Given the description of an element on the screen output the (x, y) to click on. 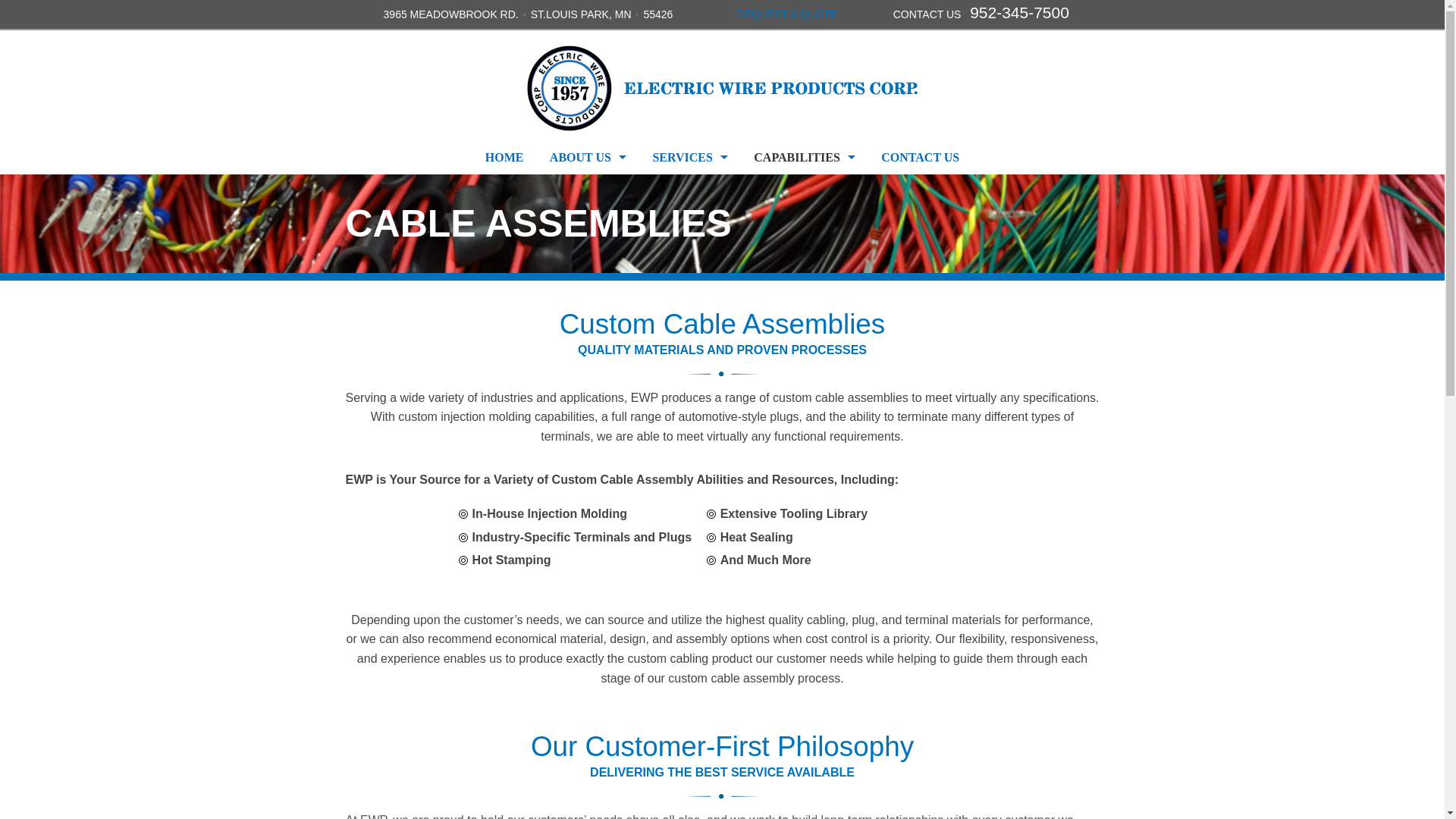
REQUEST A QUOTE (786, 14)
SERVICES (689, 157)
CABLE ASSEMBLIES (804, 259)
952-345-7500 (1018, 12)
ELECTROMECHANICAL ASSEMBLIES (804, 225)
WIRE HARNESSES (804, 191)
KITTING (804, 293)
CAPABILITIES (804, 157)
ABOUT US (587, 157)
